Given the description of an element on the screen output the (x, y) to click on. 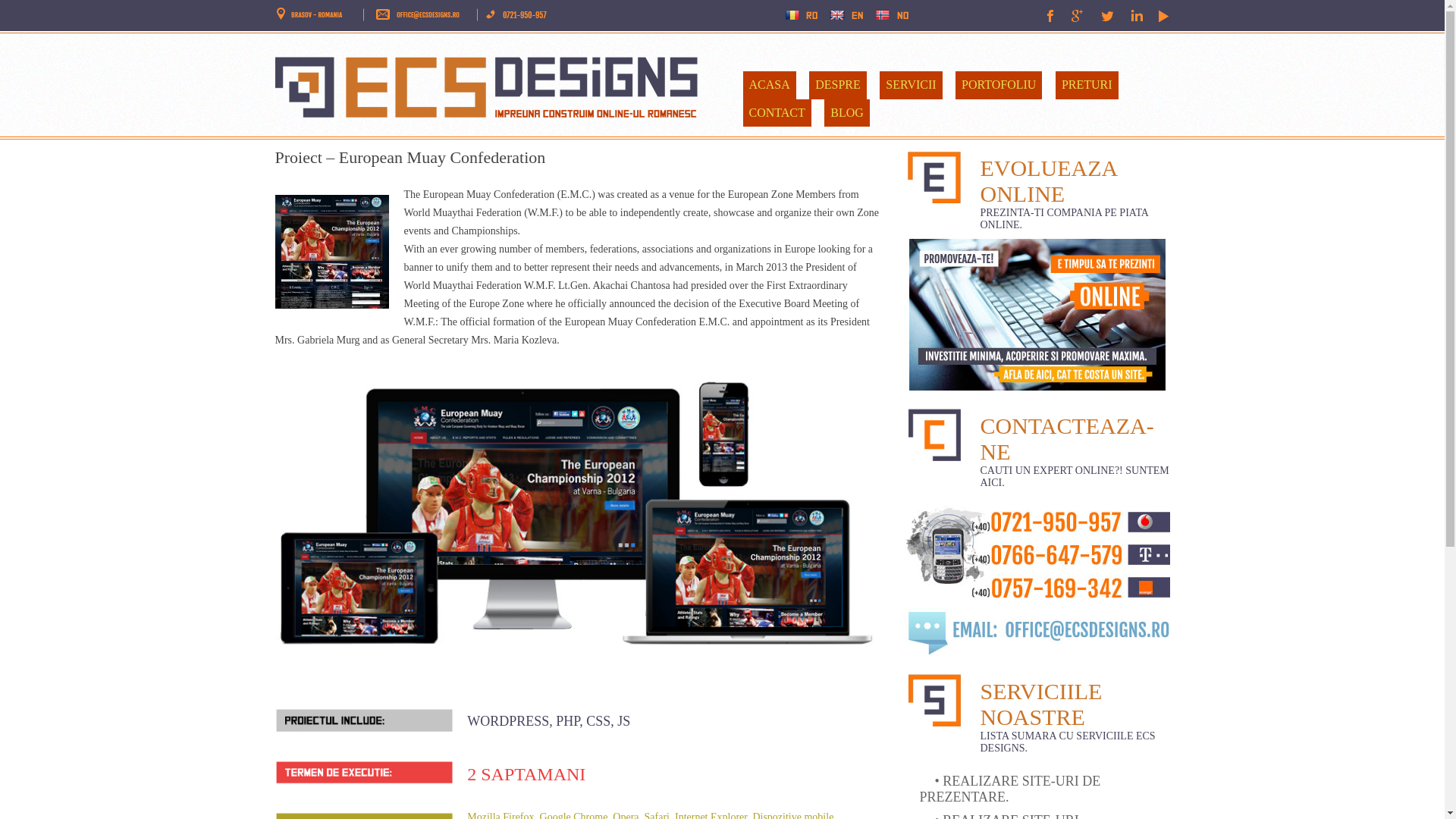
Ecs Designs (497, 81)
English (845, 17)
ACASA (769, 85)
Romana (804, 17)
SERVICII (910, 85)
PRETURI (1086, 85)
Norsk (890, 17)
DESPRE (837, 85)
CONTACT (776, 113)
BLOG (846, 113)
